Given the description of an element on the screen output the (x, y) to click on. 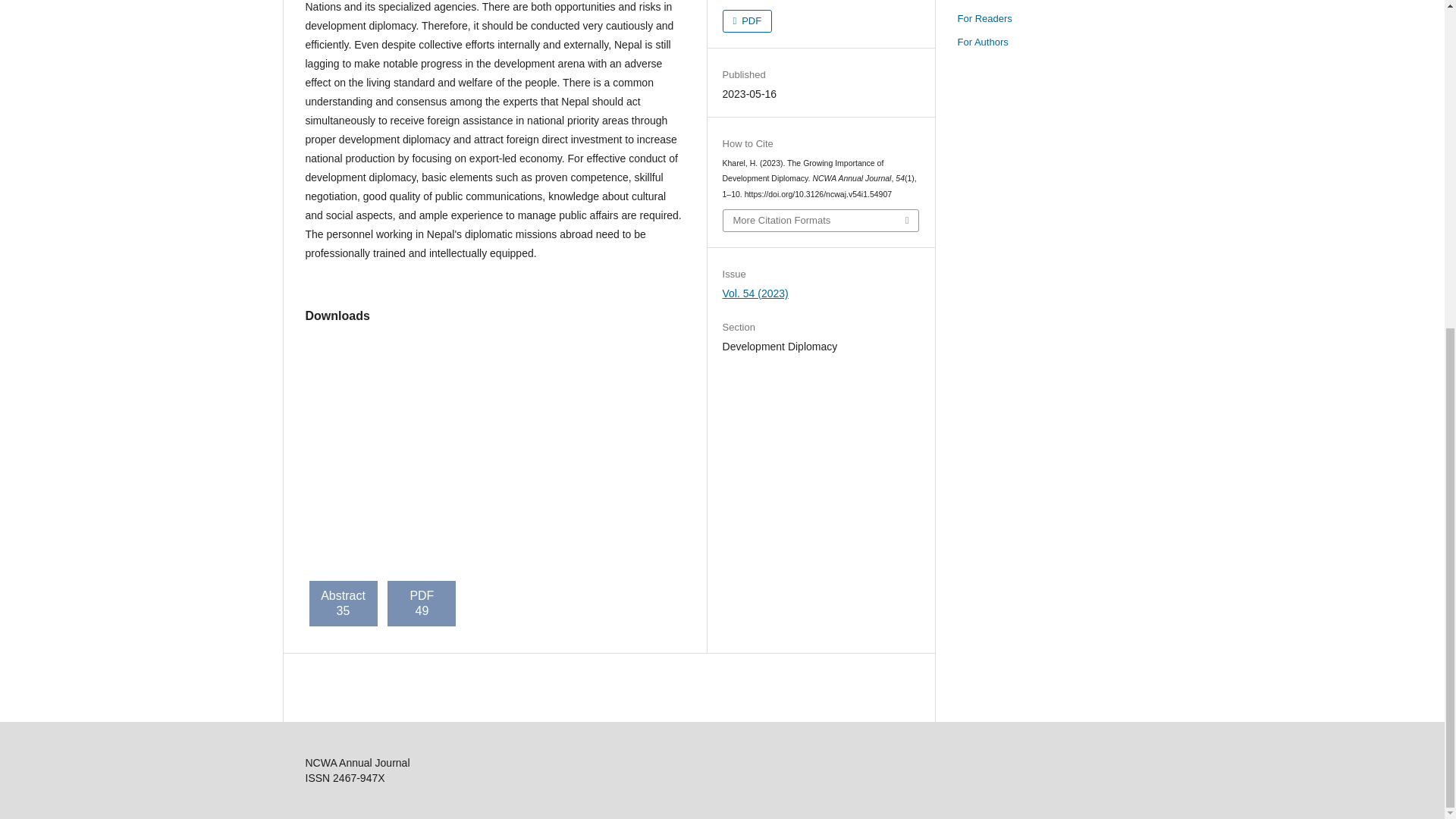
PDF (747, 20)
More Citation Formats (820, 219)
